Given the description of an element on the screen output the (x, y) to click on. 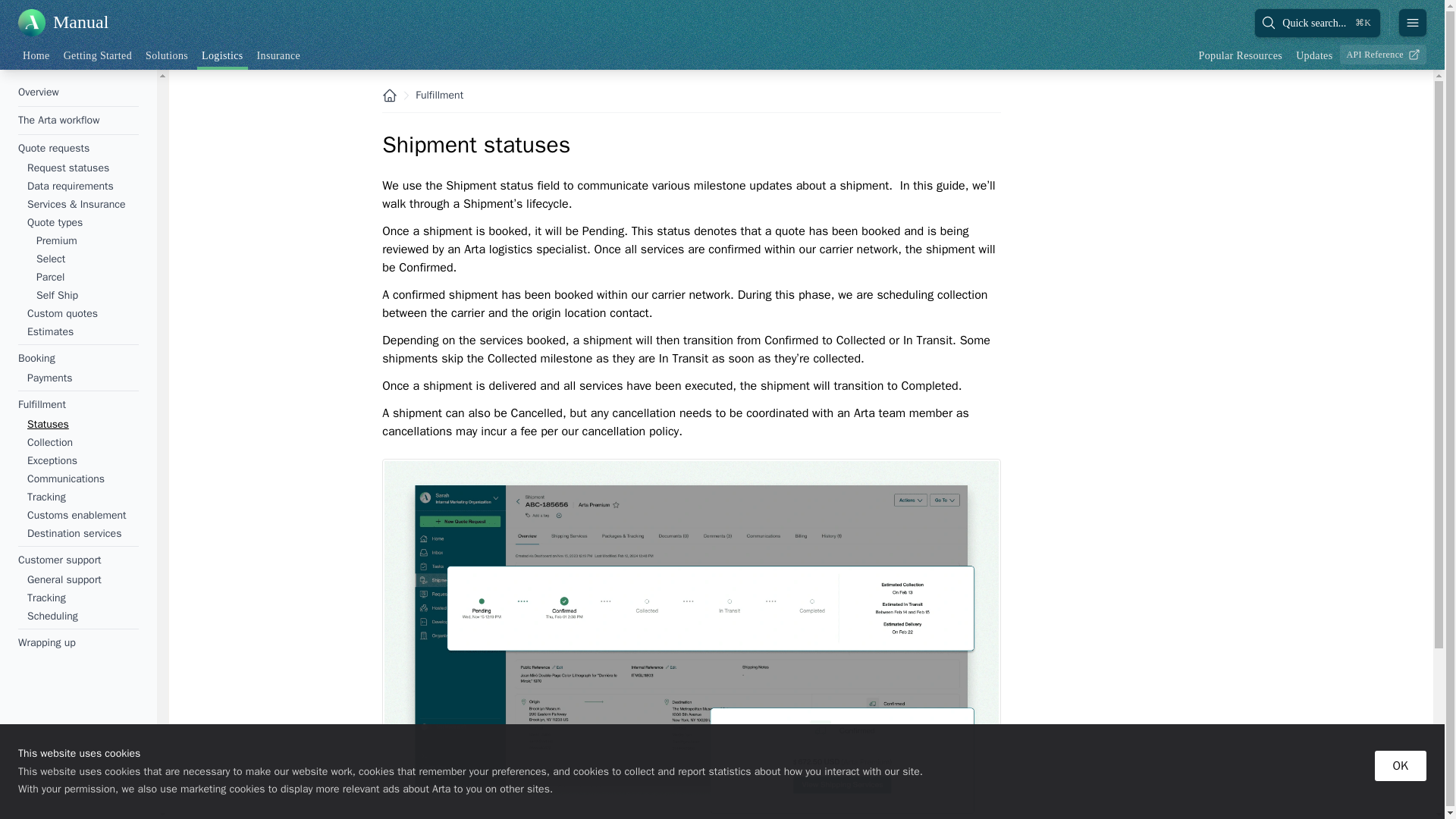
Manual (62, 22)
Logistics (221, 57)
OK (1400, 766)
Updates (1313, 55)
Popular Resources (1240, 55)
Insurance (278, 55)
Getting Started (97, 55)
Solutions (166, 55)
API Reference (1383, 54)
Home (36, 55)
